Given the description of an element on the screen output the (x, y) to click on. 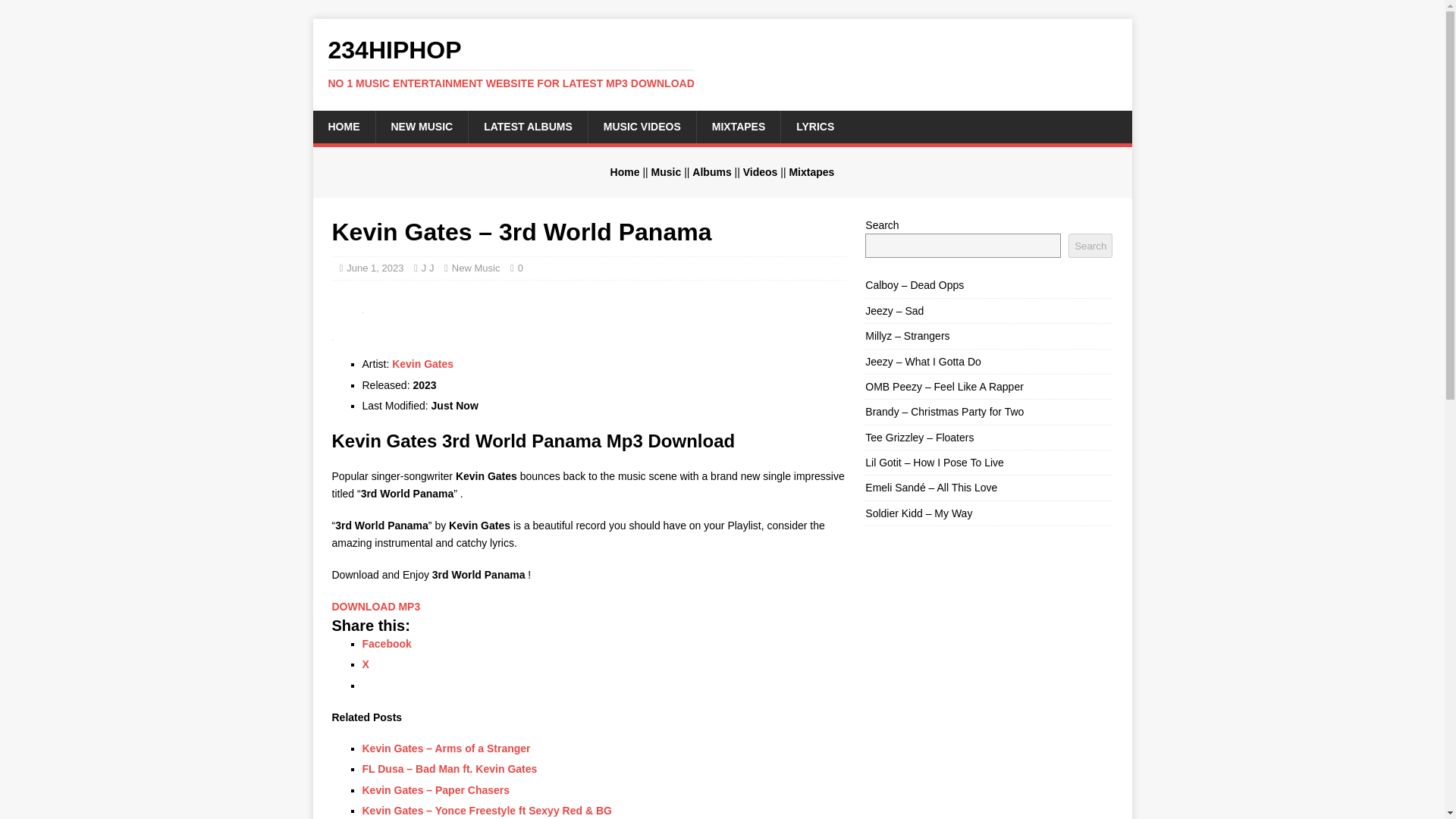
Facebook (387, 644)
Videos (759, 172)
New Music (475, 267)
MUSIC VIDEOS (641, 126)
DOWNLOAD MP3 (375, 606)
Music (665, 172)
HOME (343, 126)
Kevin Gates (421, 363)
Mixtapes (811, 172)
Posts tagged with Kevin Gates (421, 363)
LATEST ALBUMS (527, 126)
Albums (711, 172)
LYRICS (814, 126)
Click to share on Facebook (387, 644)
